Given the description of an element on the screen output the (x, y) to click on. 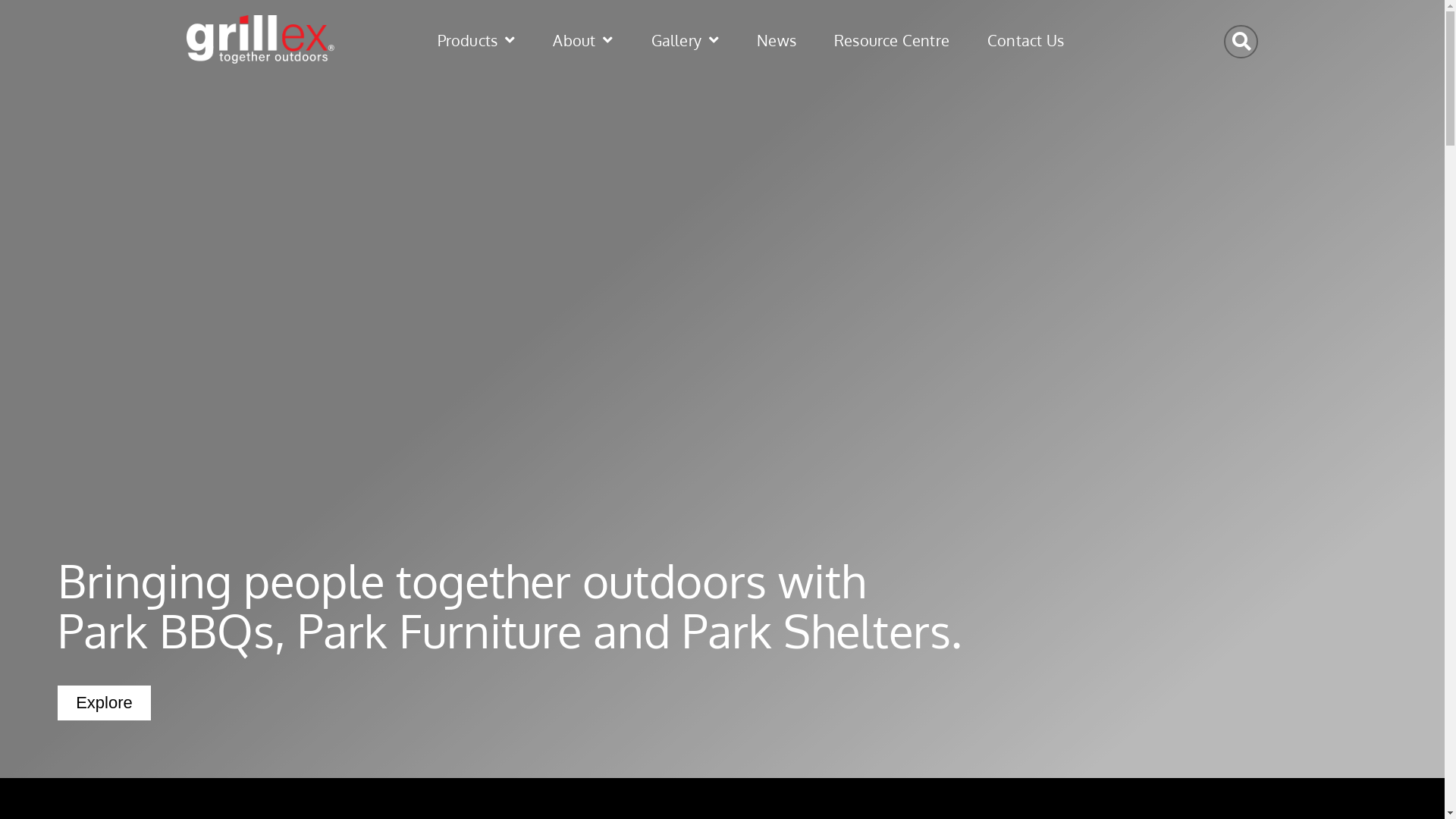
News Element type: text (757, 40)
Explore Element type: text (103, 702)
Resource Centre Element type: text (872, 40)
About Element type: text (563, 40)
Gallery Element type: text (666, 40)
Contact Us Element type: text (1006, 40)
Products Element type: text (456, 40)
